Given the description of an element on the screen output the (x, y) to click on. 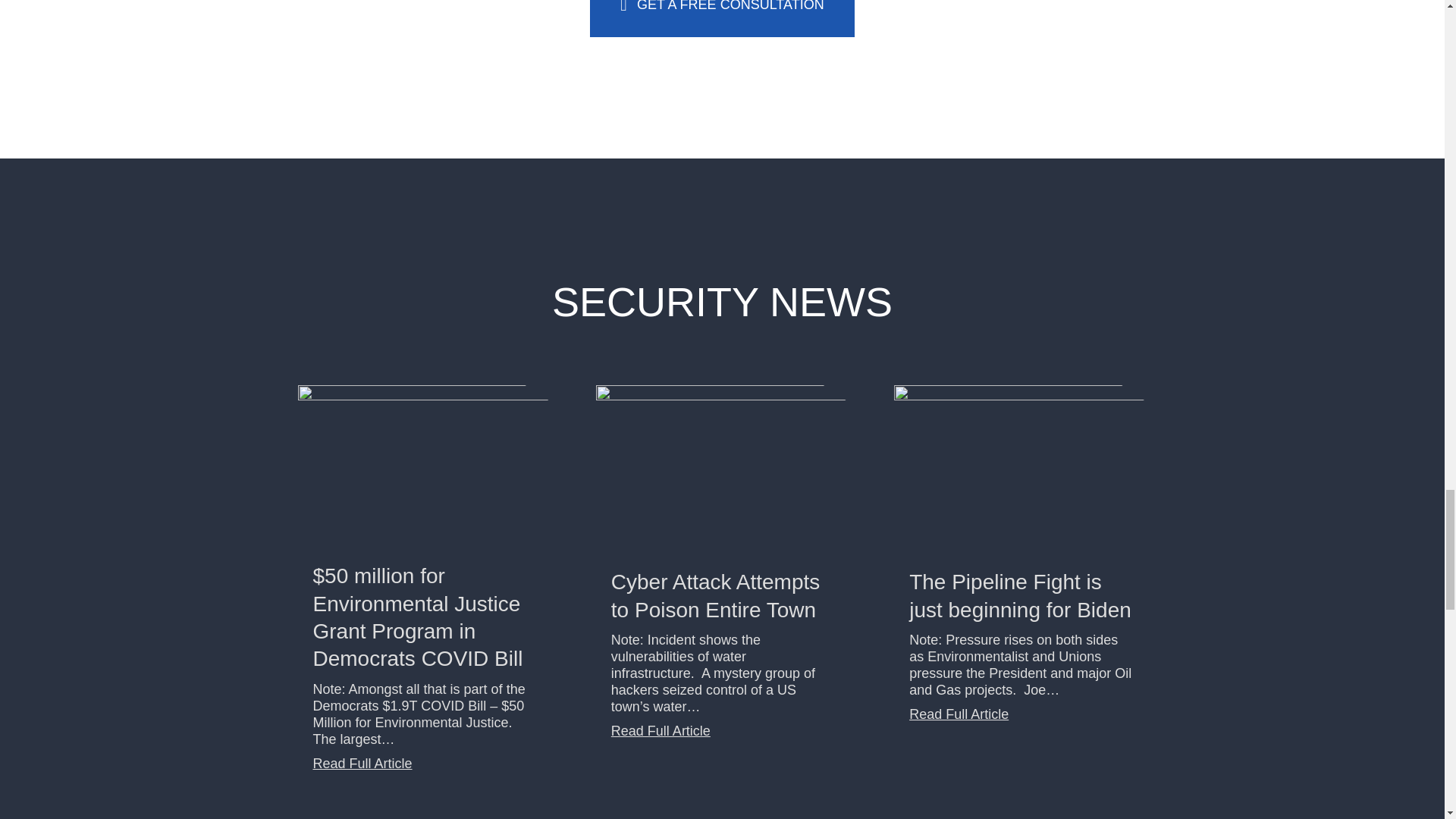
The Pipeline Fight is just beginning for Biden (1020, 468)
Cyber Attack Attempts to Poison Entire Town (715, 595)
Read Full Article (660, 730)
GET A FREE CONSULTATION (721, 18)
Cyber Attack Attempts to Poison Entire Town (721, 468)
Cyber Attack Attempts to Poison Entire Town (660, 730)
Cyber Attack Attempts to Poison Entire Town (715, 595)
Read Full Article (362, 763)
Read Full Article (958, 713)
The Pipeline Fight is just beginning for Biden (1019, 595)
